Given the description of an element on the screen output the (x, y) to click on. 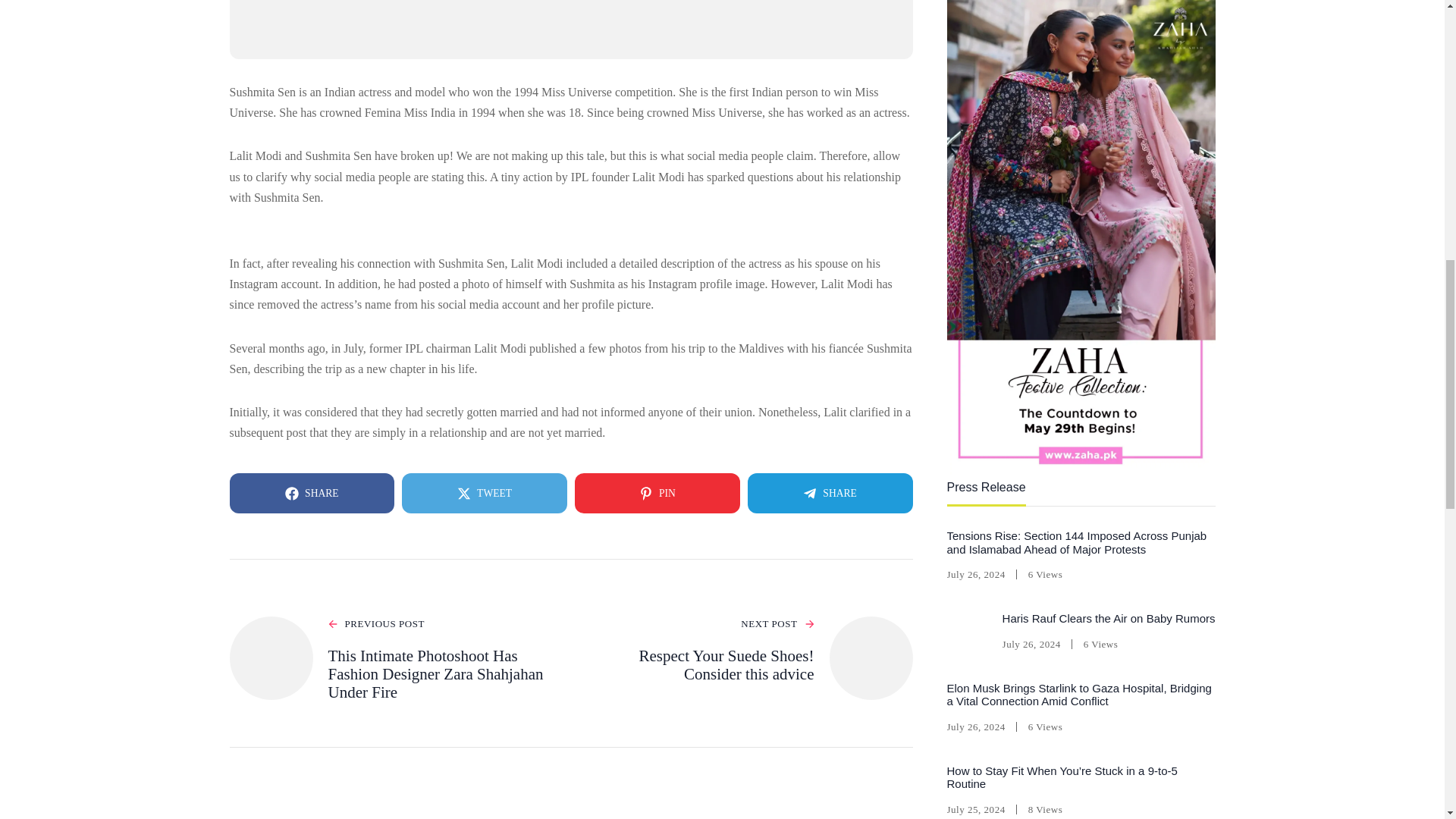
Haris Rauf Clears the Air on Baby Rumors (1109, 60)
